Given the description of an element on the screen output the (x, y) to click on. 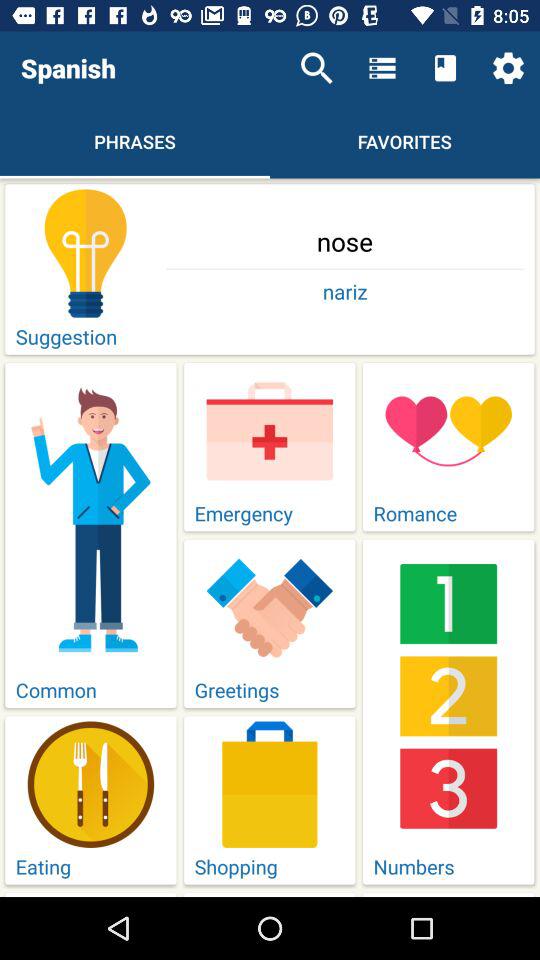
turn on the item next to the spanish icon (316, 67)
